Given the description of an element on the screen output the (x, y) to click on. 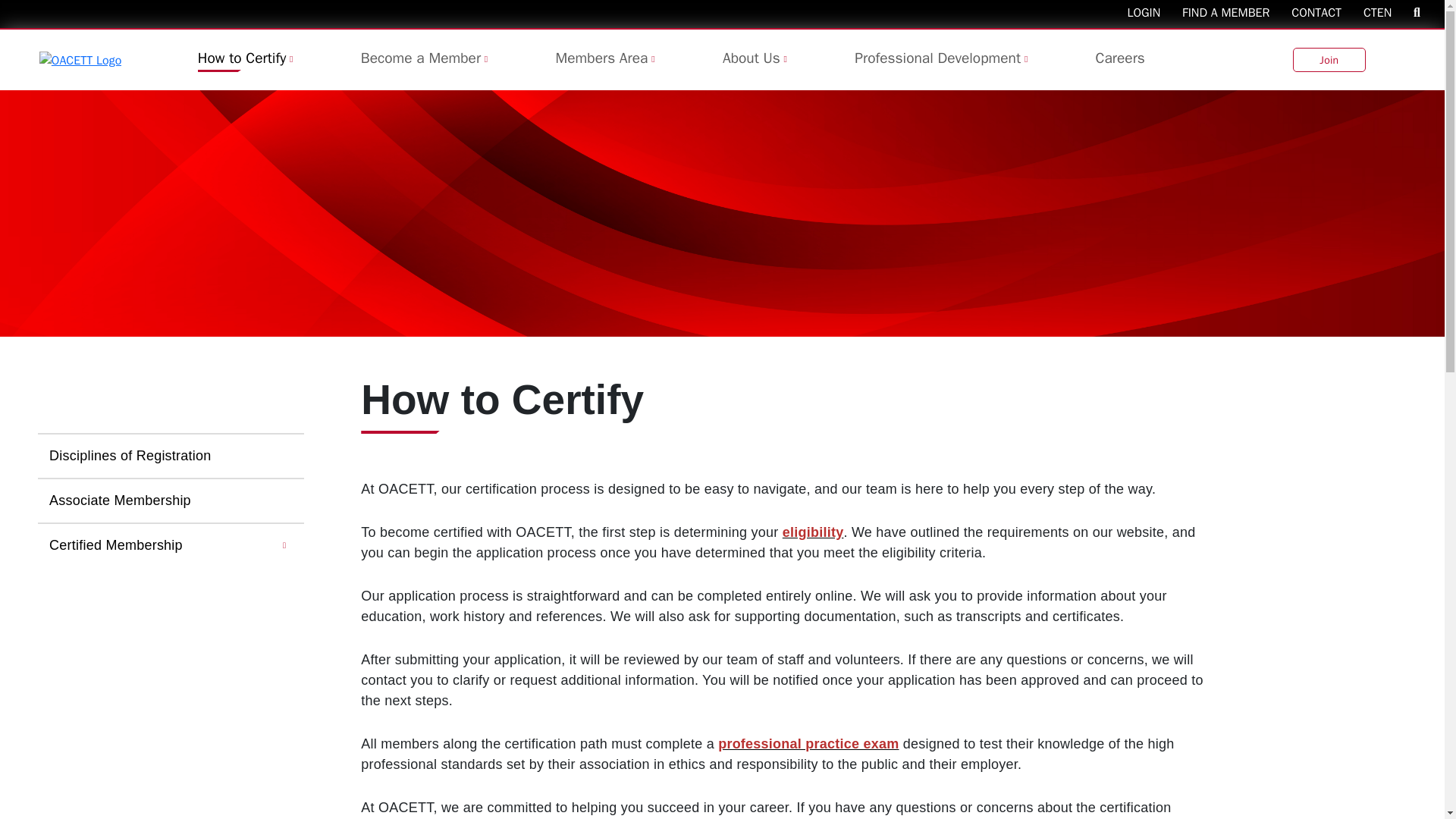
Members Area (601, 58)
LOGIN (1151, 12)
CONTACT (1325, 12)
CTEN (1385, 12)
FIND A MEMBER (1234, 12)
About Us (751, 58)
How to Certify (242, 58)
Become a Member (420, 58)
